Given the description of an element on the screen output the (x, y) to click on. 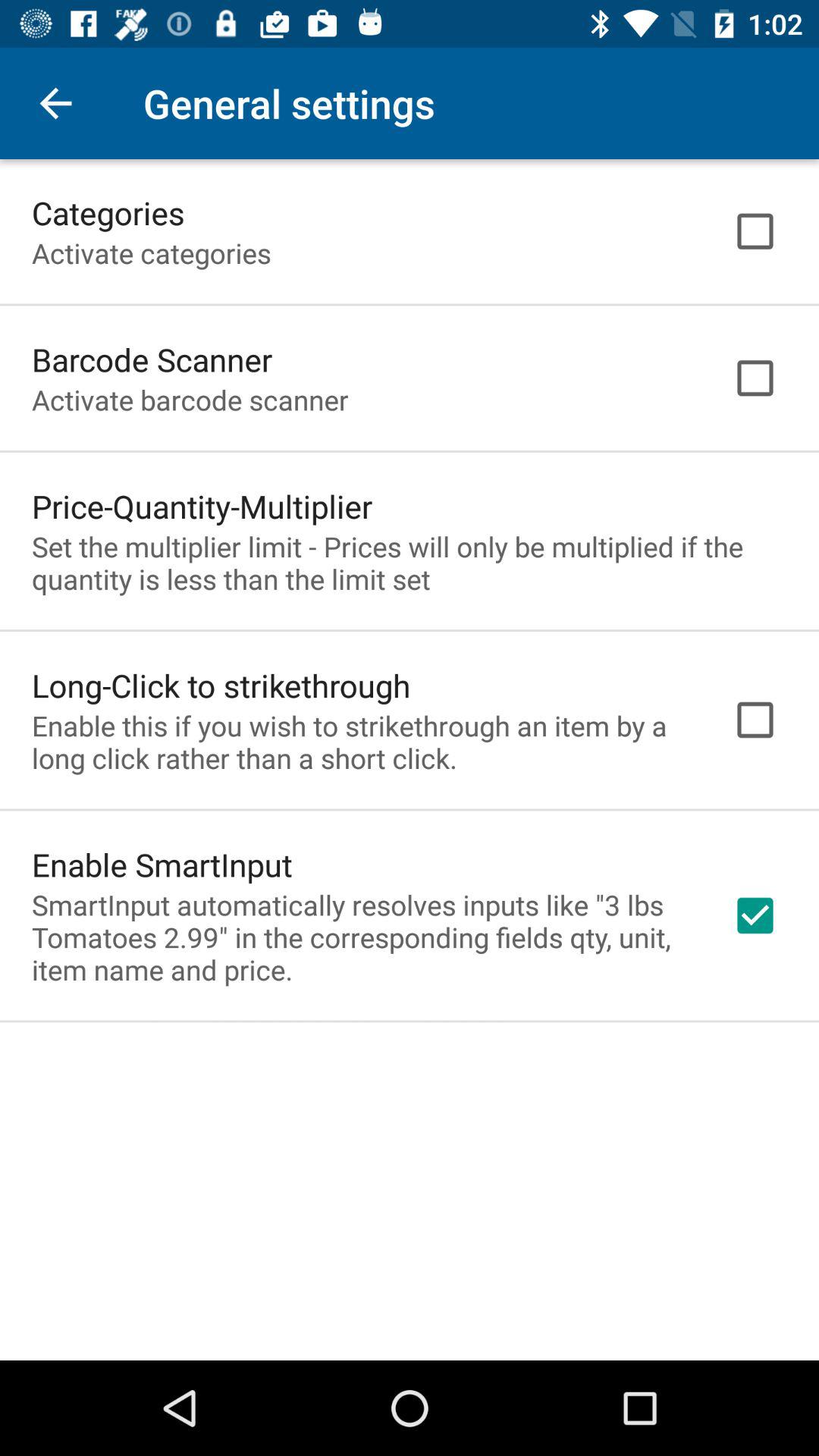
turn off item above categories item (55, 103)
